Given the description of an element on the screen output the (x, y) to click on. 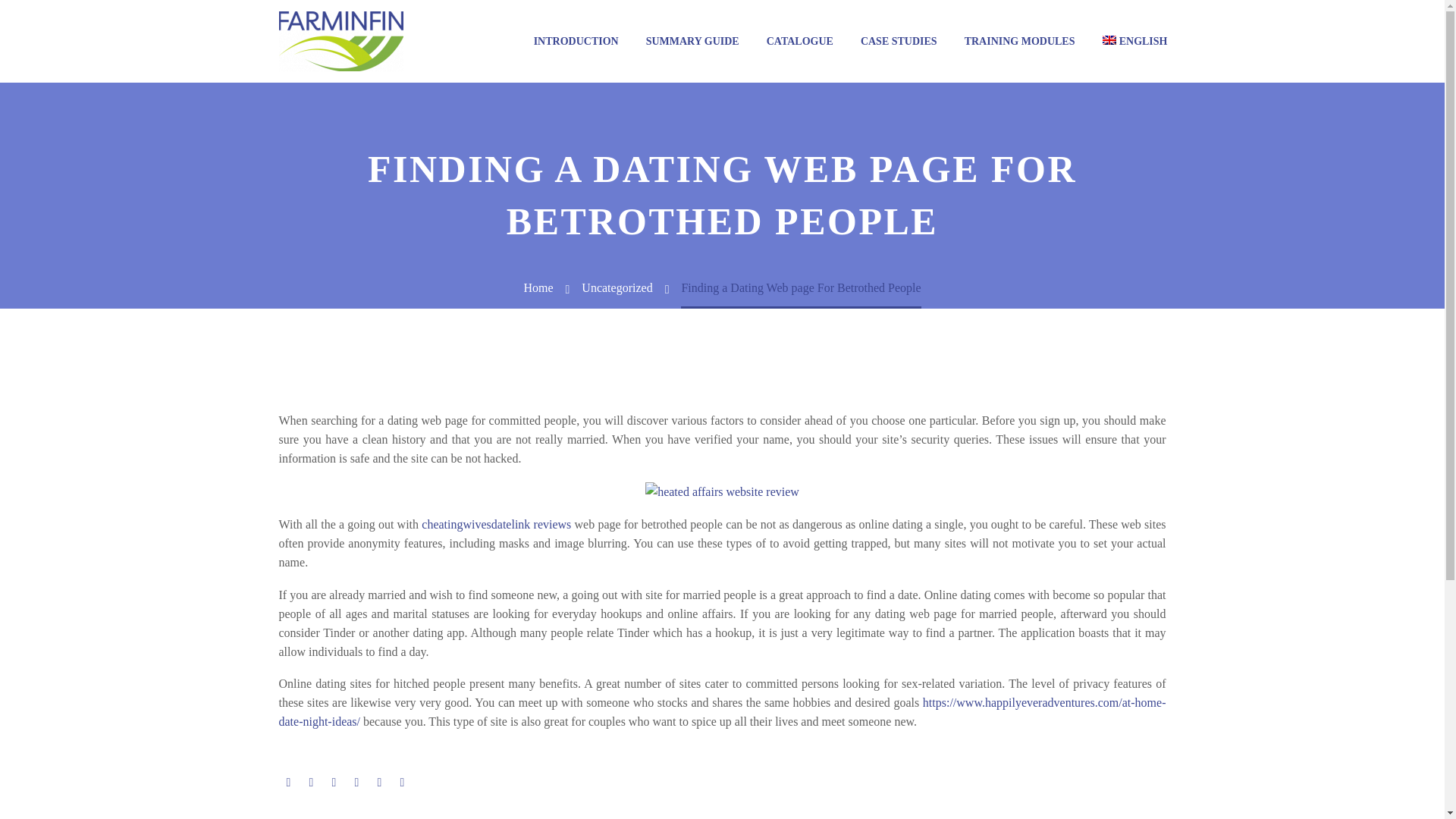
Facebook (288, 782)
Reddit (401, 782)
English (1133, 40)
ENGLISH (1133, 40)
CATALOGUE (799, 40)
CASE STUDIES (898, 40)
INTRODUCTION (576, 40)
Pinterest (333, 782)
cheatingwivesdatelink reviews (496, 523)
Twitter (310, 782)
Tumblr (356, 782)
LinkedIn (378, 782)
Uncategorized (616, 287)
Home (537, 287)
SUMMARY GUIDE (692, 40)
